Given the description of an element on the screen output the (x, y) to click on. 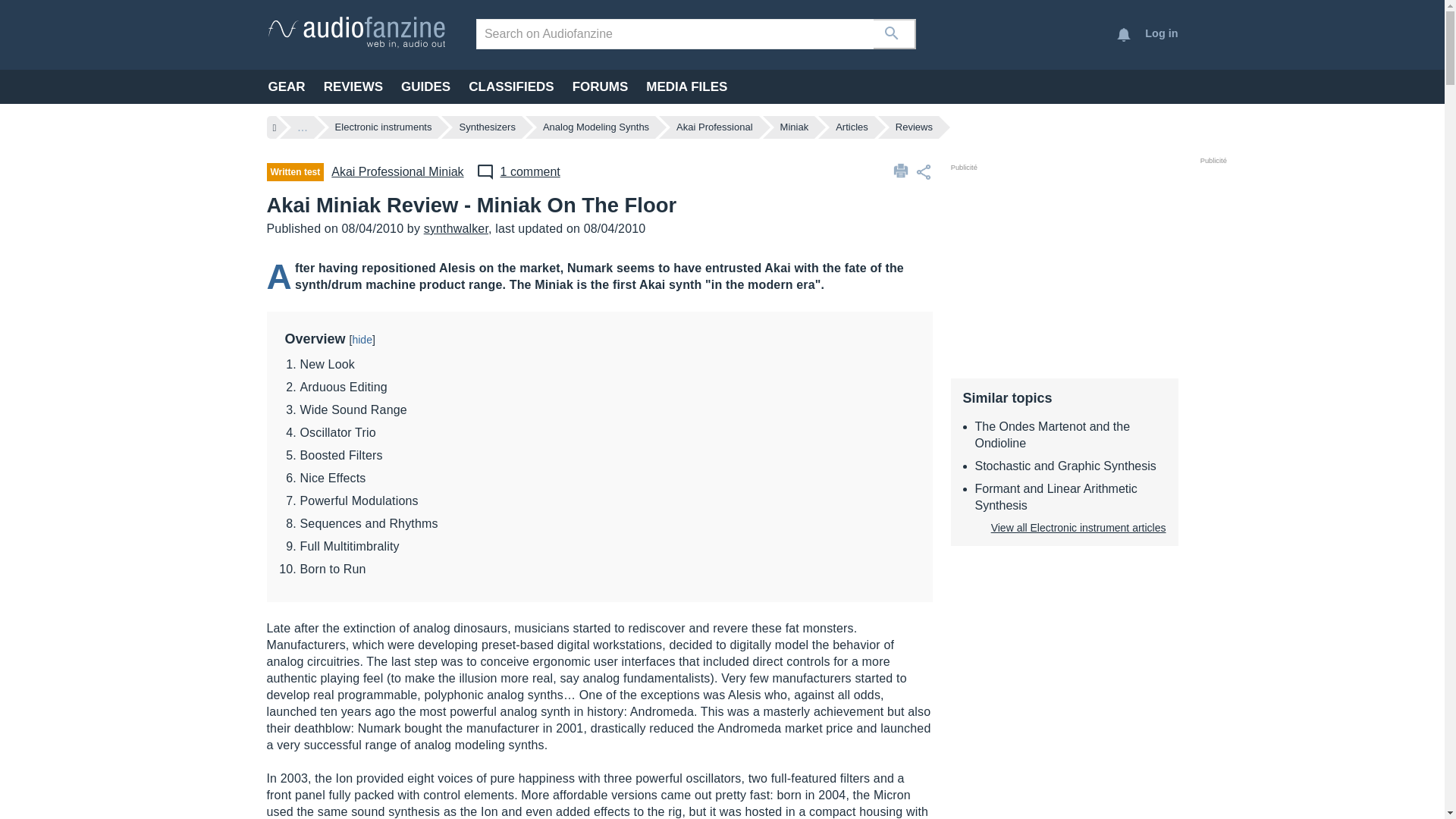
Electronic instruments (383, 127)
Notifications (1123, 34)
Miniak (794, 127)
Search (894, 33)
Comment on Audiofanzine (518, 171)
Analog Modeling Synths (596, 127)
Reviews (914, 127)
Akai Professional (714, 127)
Synthesizers (486, 127)
Articles (851, 127)
CLASSIFIEDS (511, 86)
FORUMS (600, 86)
